Given the description of an element on the screen output the (x, y) to click on. 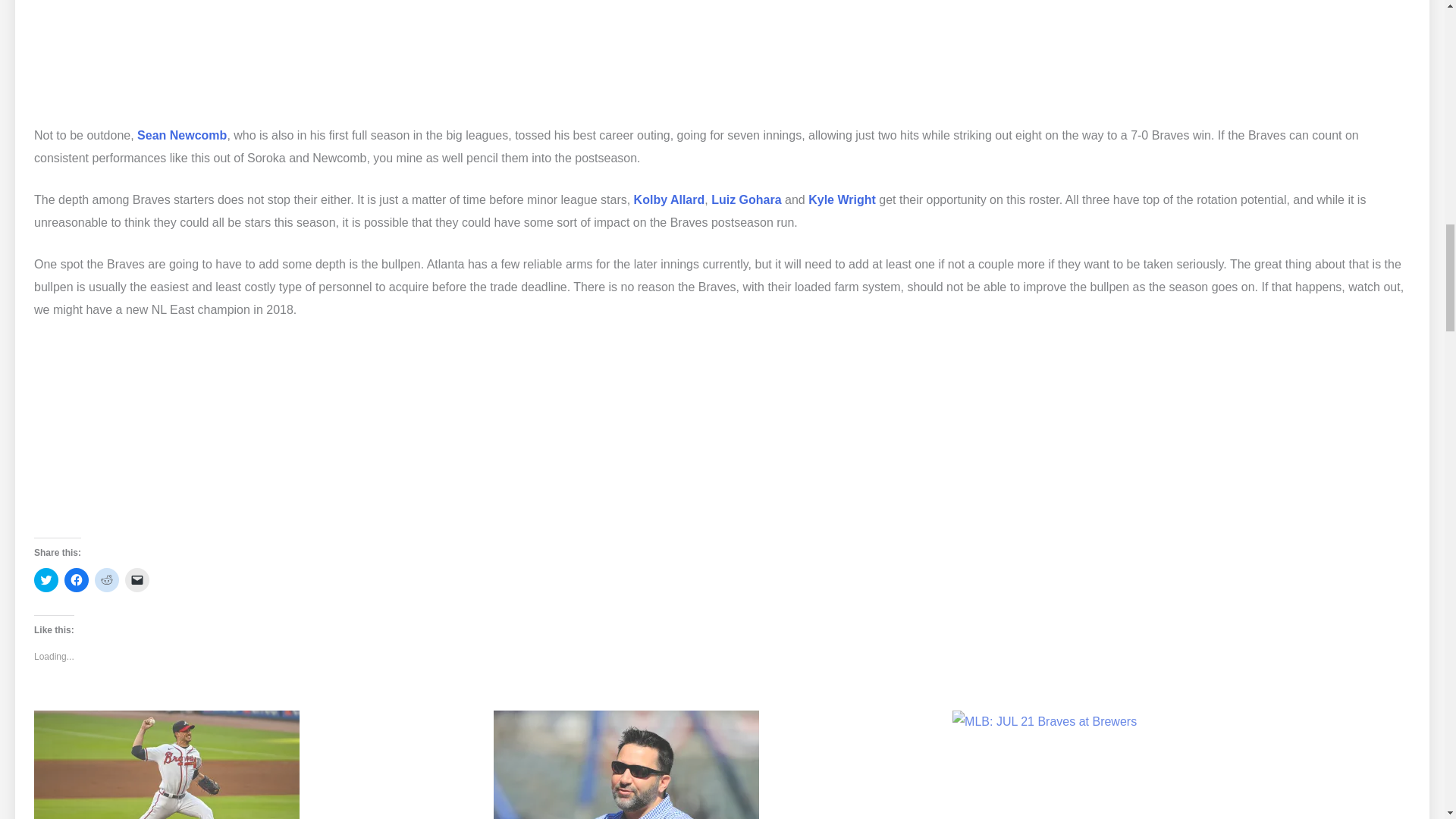
Click to share on Facebook (76, 580)
Click to email a link to a friend (137, 580)
Click to share on Twitter (45, 580)
Braves vs. Phillies: Probable Pitchers (256, 764)
Click to share on Reddit (106, 580)
